Given the description of an element on the screen output the (x, y) to click on. 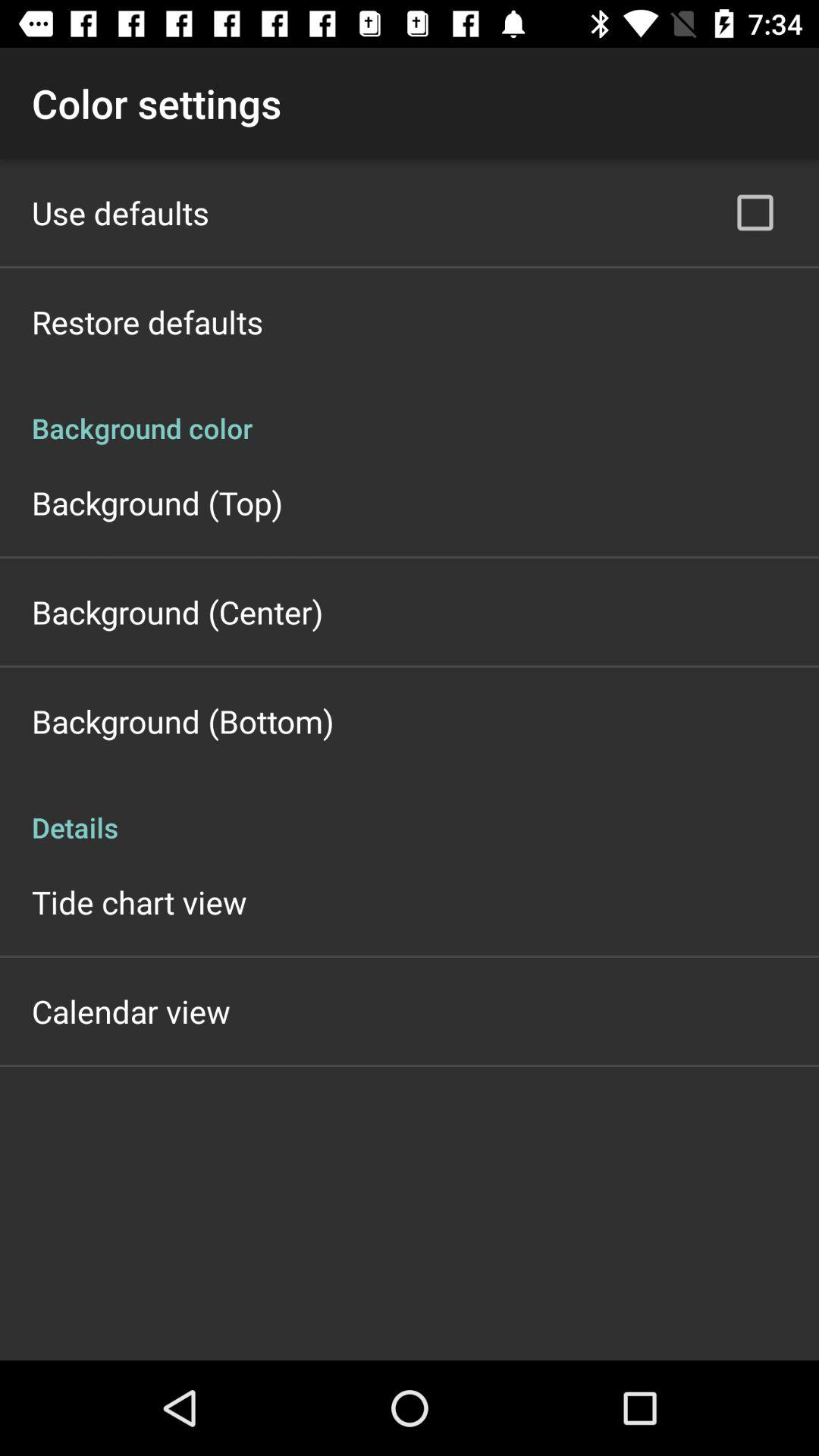
click the app above the details app (182, 720)
